Given the description of an element on the screen output the (x, y) to click on. 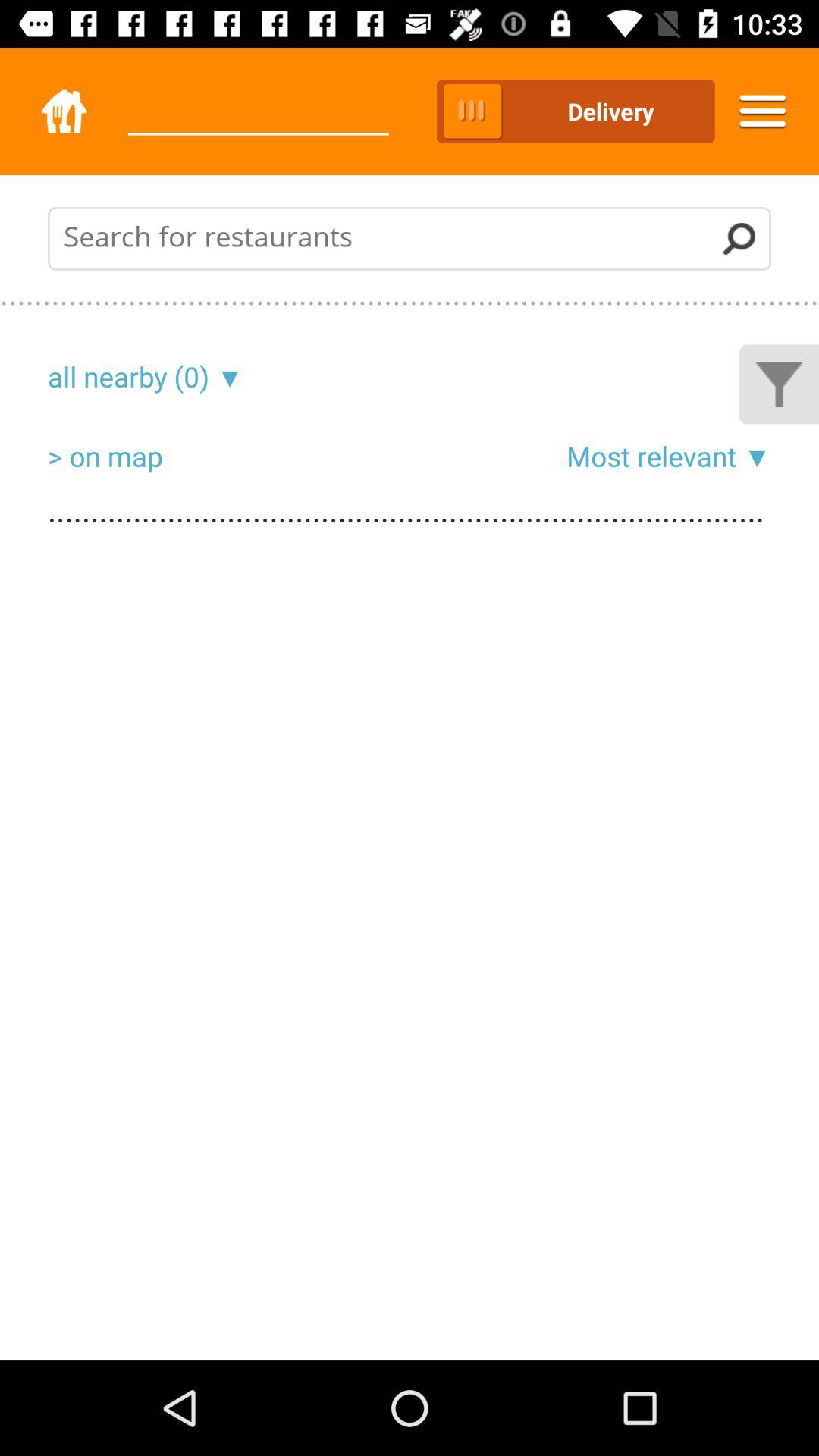
click the icon above the .................................................................................................................................................................................................................................................................................................................................................................................................................................................................................................... (753, 455)
